Given the description of an element on the screen output the (x, y) to click on. 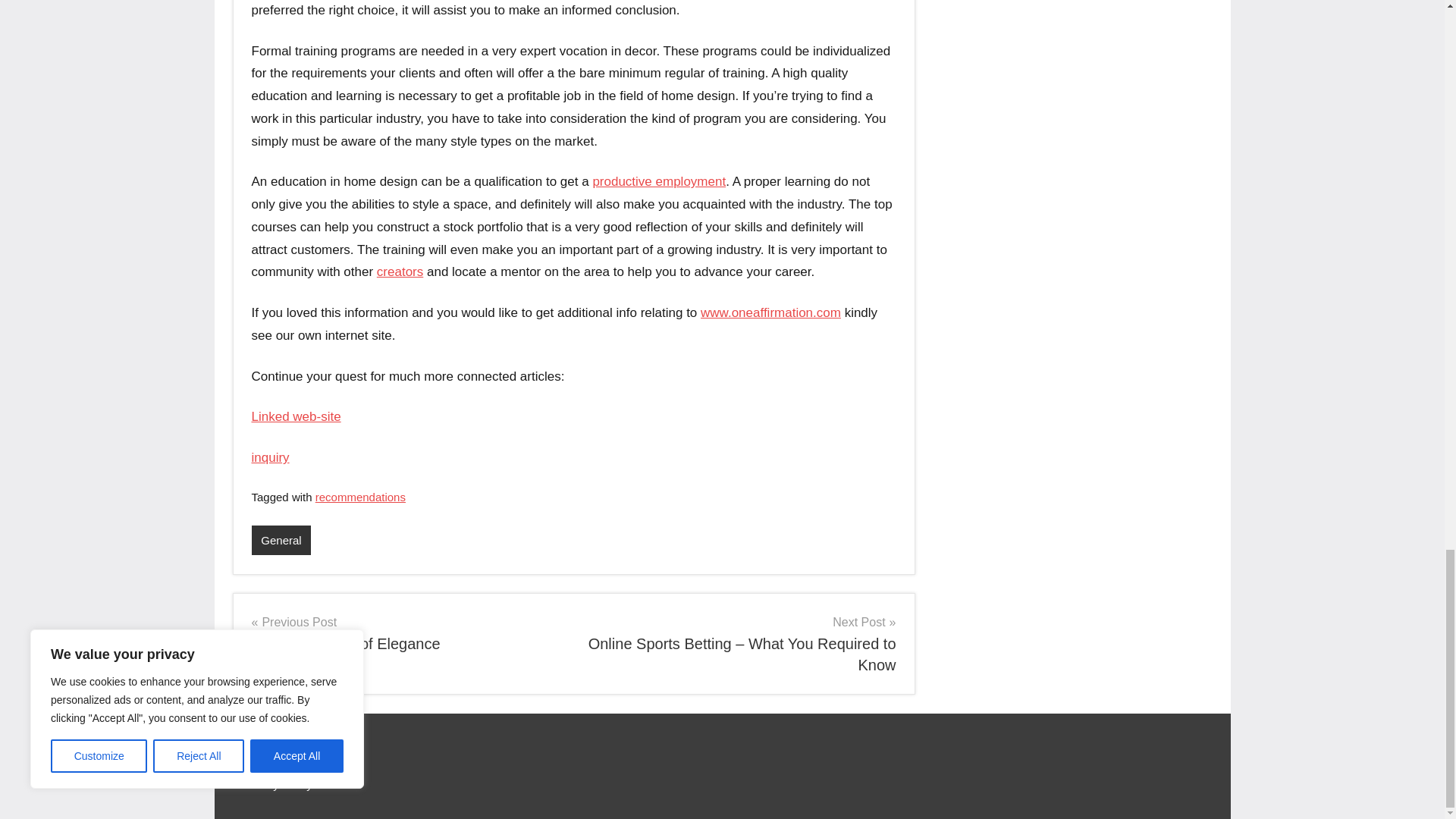
inquiry (270, 457)
recommendations (360, 496)
productive employment (406, 632)
www.oneaffirmation.com (658, 181)
Linked web-site (770, 312)
General (295, 416)
creators (281, 540)
